Given the description of an element on the screen output the (x, y) to click on. 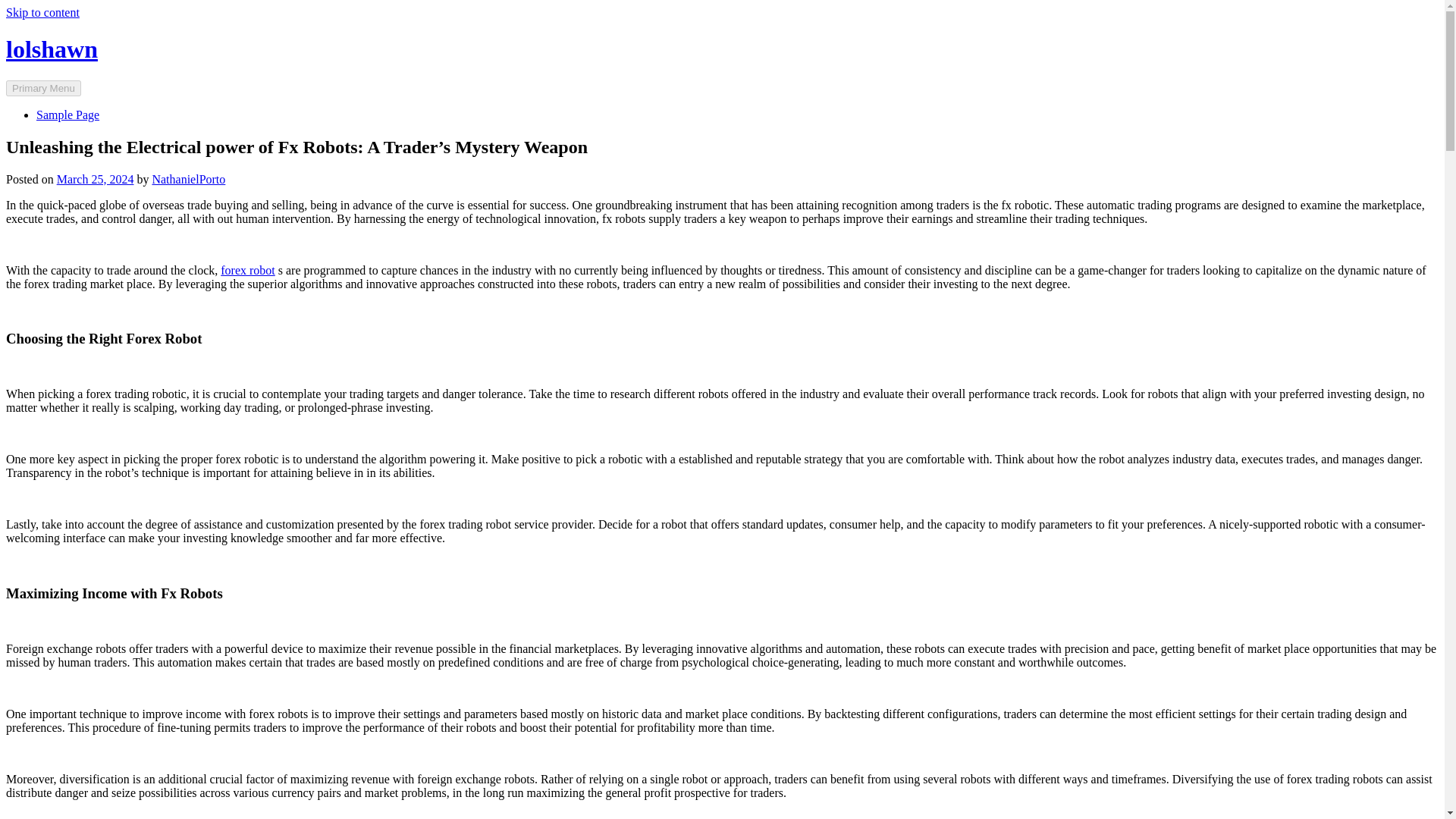
NathanielPorto (188, 178)
lolshawn (51, 49)
forex robot (248, 269)
March 25, 2024 (94, 178)
Skip to content (42, 11)
Primary Menu (43, 88)
Sample Page (67, 114)
